Given the description of an element on the screen output the (x, y) to click on. 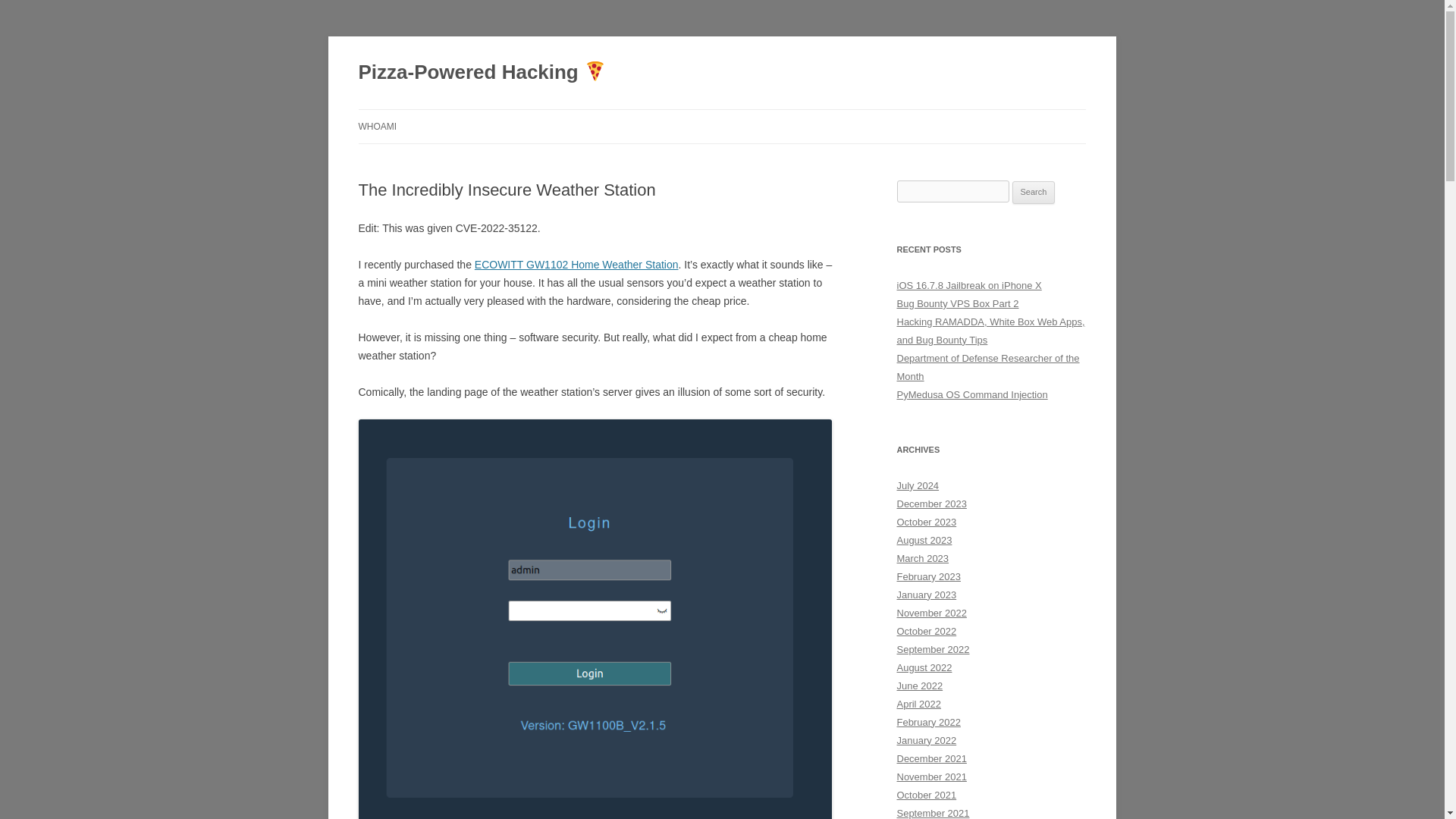
August 2022 (924, 667)
November 2022 (931, 613)
March 2023 (922, 558)
June 2022 (919, 685)
February 2023 (927, 576)
January 2022 (926, 740)
ECOWITT GW1102 Home Weather Station (576, 264)
Department of Defense Researcher of the Month (987, 367)
Search (1033, 191)
August 2023 (924, 540)
Search (1033, 191)
January 2023 (926, 594)
WHOAMI (377, 126)
PyMedusa OS Command Injection (971, 394)
Hacking RAMADDA, White Box Web Apps, and Bug Bounty Tips (990, 330)
